Given the description of an element on the screen output the (x, y) to click on. 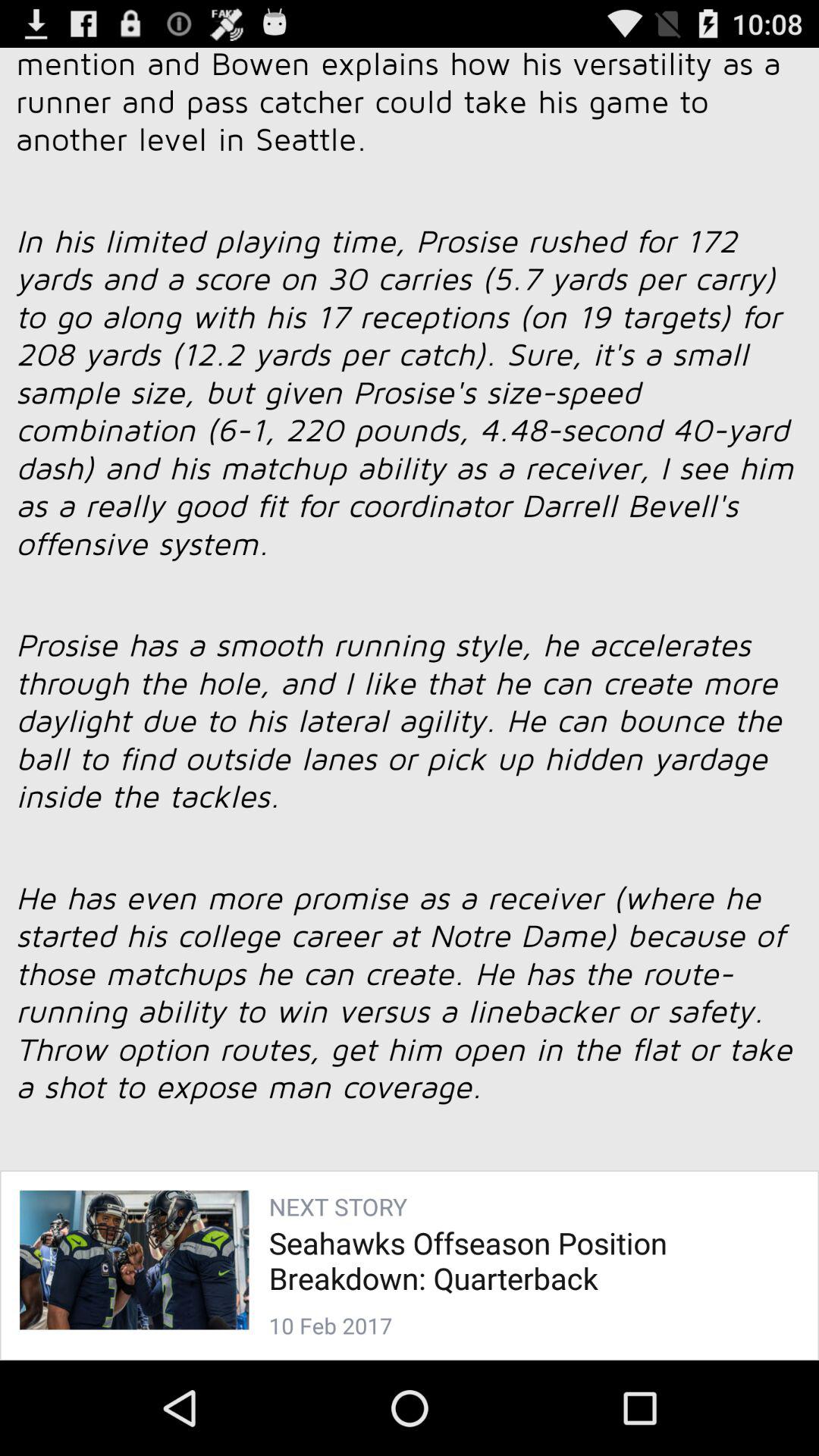
for advertisement (409, 683)
